Given the description of an element on the screen output the (x, y) to click on. 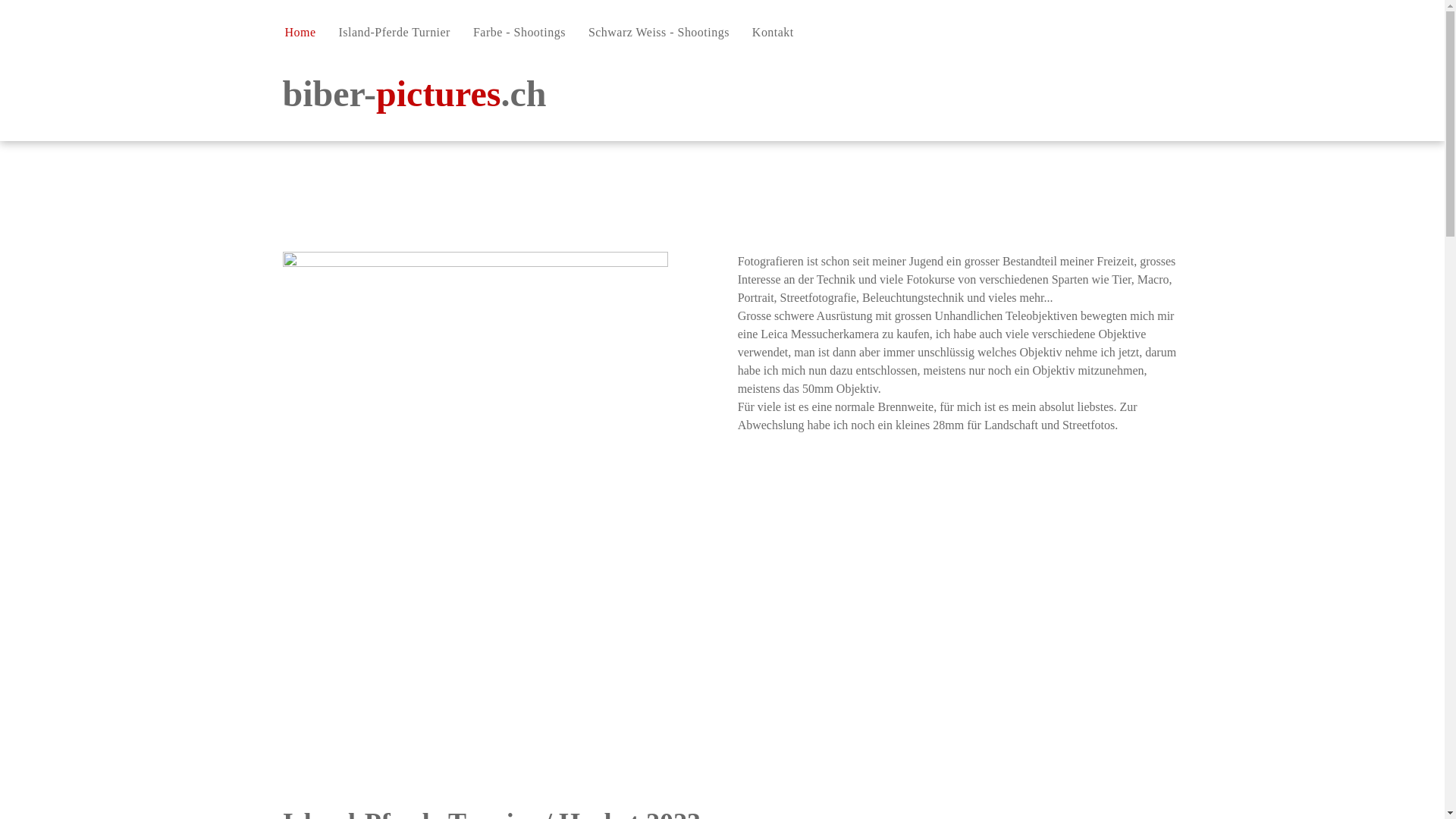
Home Element type: text (299, 32)
Island-Pferde Turnier Element type: text (394, 32)
Schwarz Weiss - Shootings Element type: text (658, 32)
Farbe - Shootings Element type: text (519, 32)
Kontakt Element type: text (772, 32)
